Given the description of an element on the screen output the (x, y) to click on. 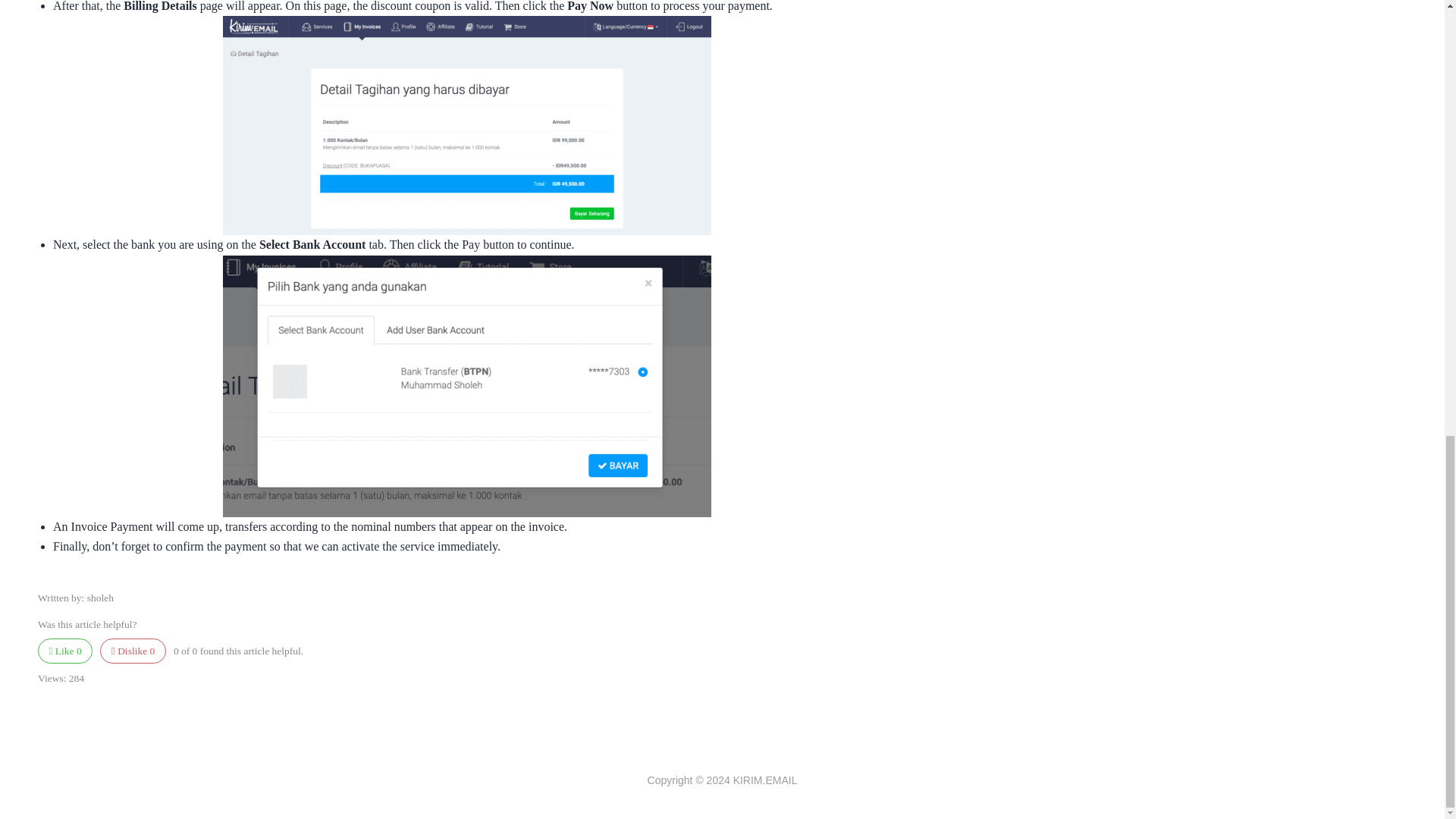
Like 0 (65, 650)
Dislike (132, 650)
Like (65, 650)
Dislike 0 (132, 650)
